Given the description of an element on the screen output the (x, y) to click on. 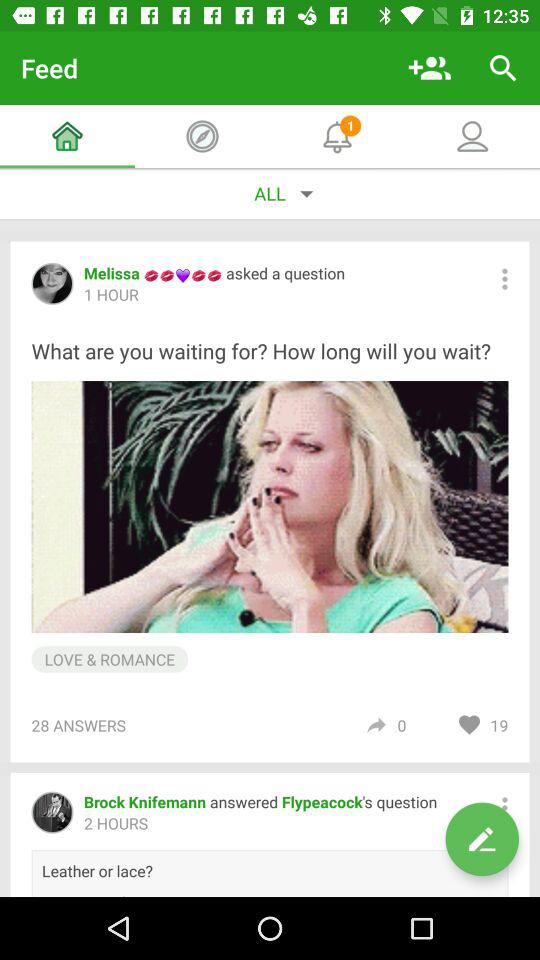
expand menu (504, 278)
